Given the description of an element on the screen output the (x, y) to click on. 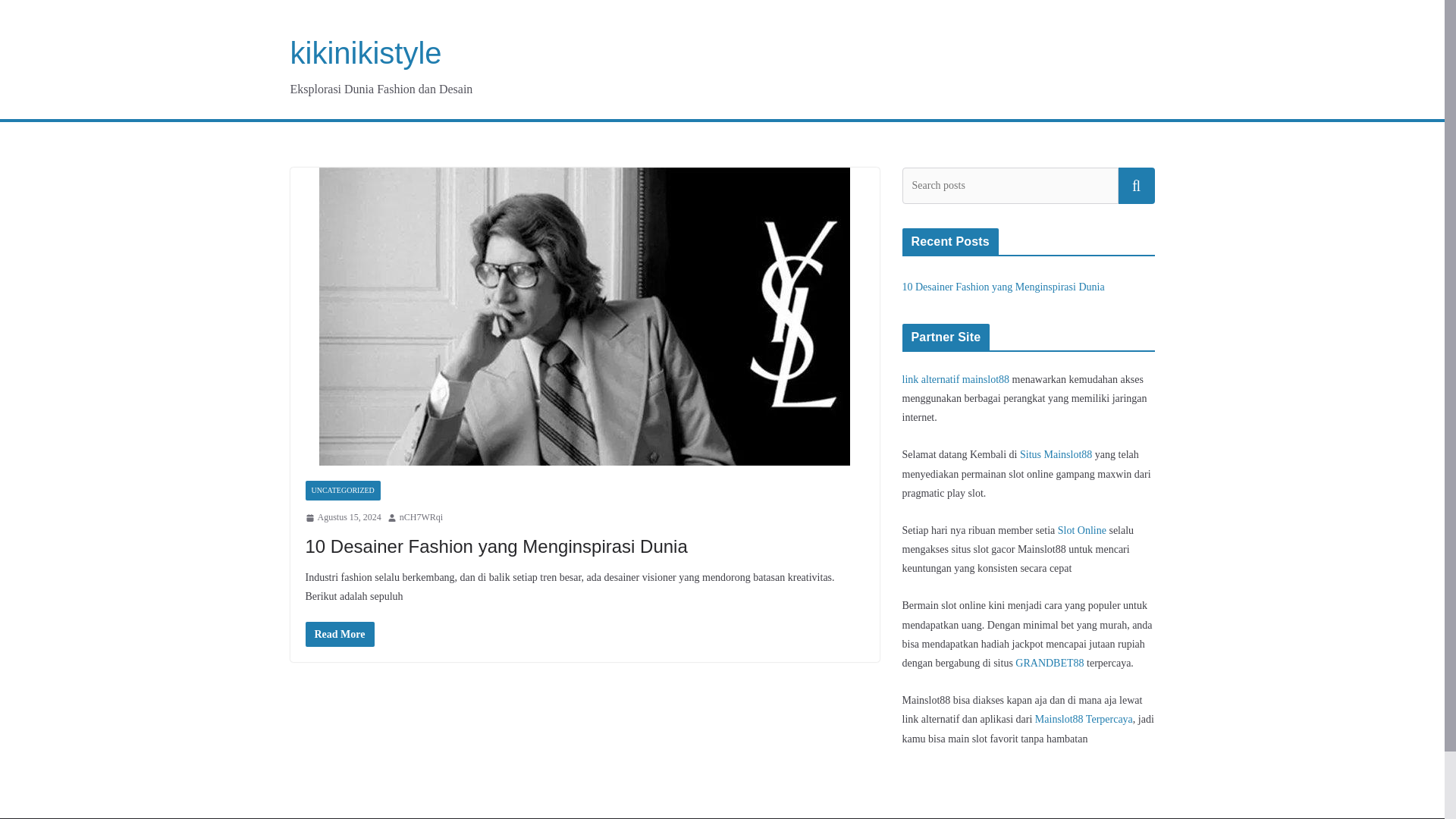
kikinikistyle (365, 52)
3:53 pm (342, 517)
Situs Mainslot88 (1056, 454)
10 Desainer Fashion yang Menginspirasi Dunia (1003, 286)
10 Desainer Fashion yang Menginspirasi Dunia (495, 546)
GRANDBET88 (1048, 663)
UNCATEGORIZED (342, 490)
10 Desainer Fashion yang Menginspirasi Dunia (495, 546)
nCH7WRqi (420, 517)
Cari (1136, 185)
